Given the description of an element on the screen output the (x, y) to click on. 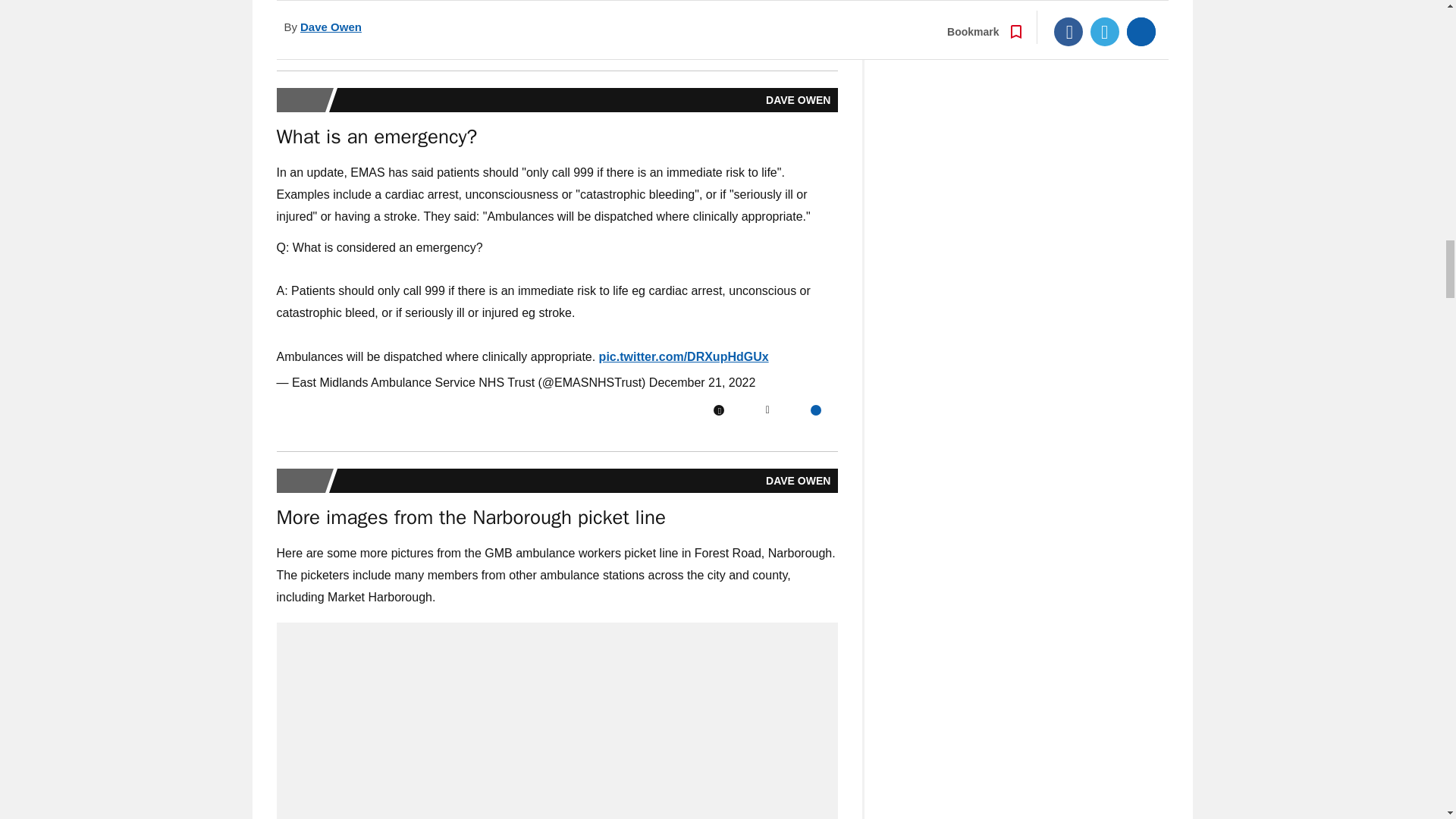
Facebook (718, 29)
Twitter (767, 29)
